Given the description of an element on the screen output the (x, y) to click on. 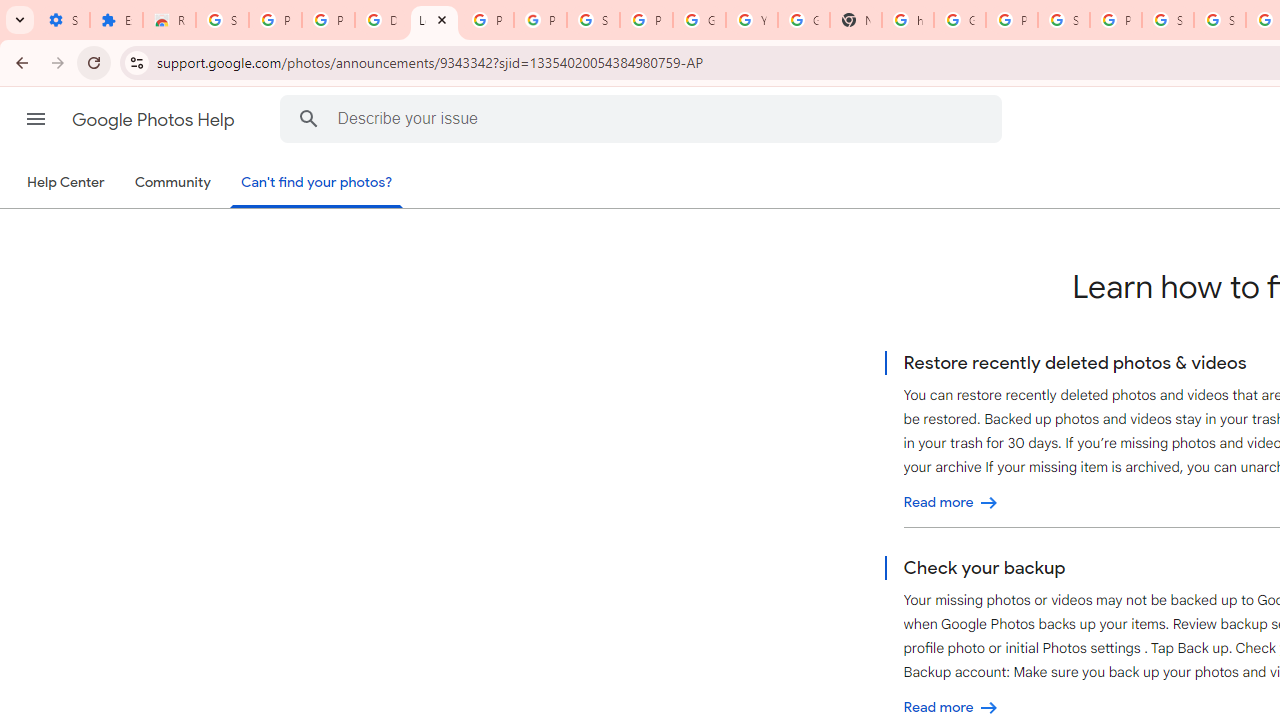
Search Help Center (309, 118)
YouTube (751, 20)
New Tab (855, 20)
Reviews: Helix Fruit Jump Arcade Game (169, 20)
Google Account (699, 20)
Sign in - Google Accounts (593, 20)
Community (171, 183)
Sign in - Google Accounts (1167, 20)
